Given the description of an element on the screen output the (x, y) to click on. 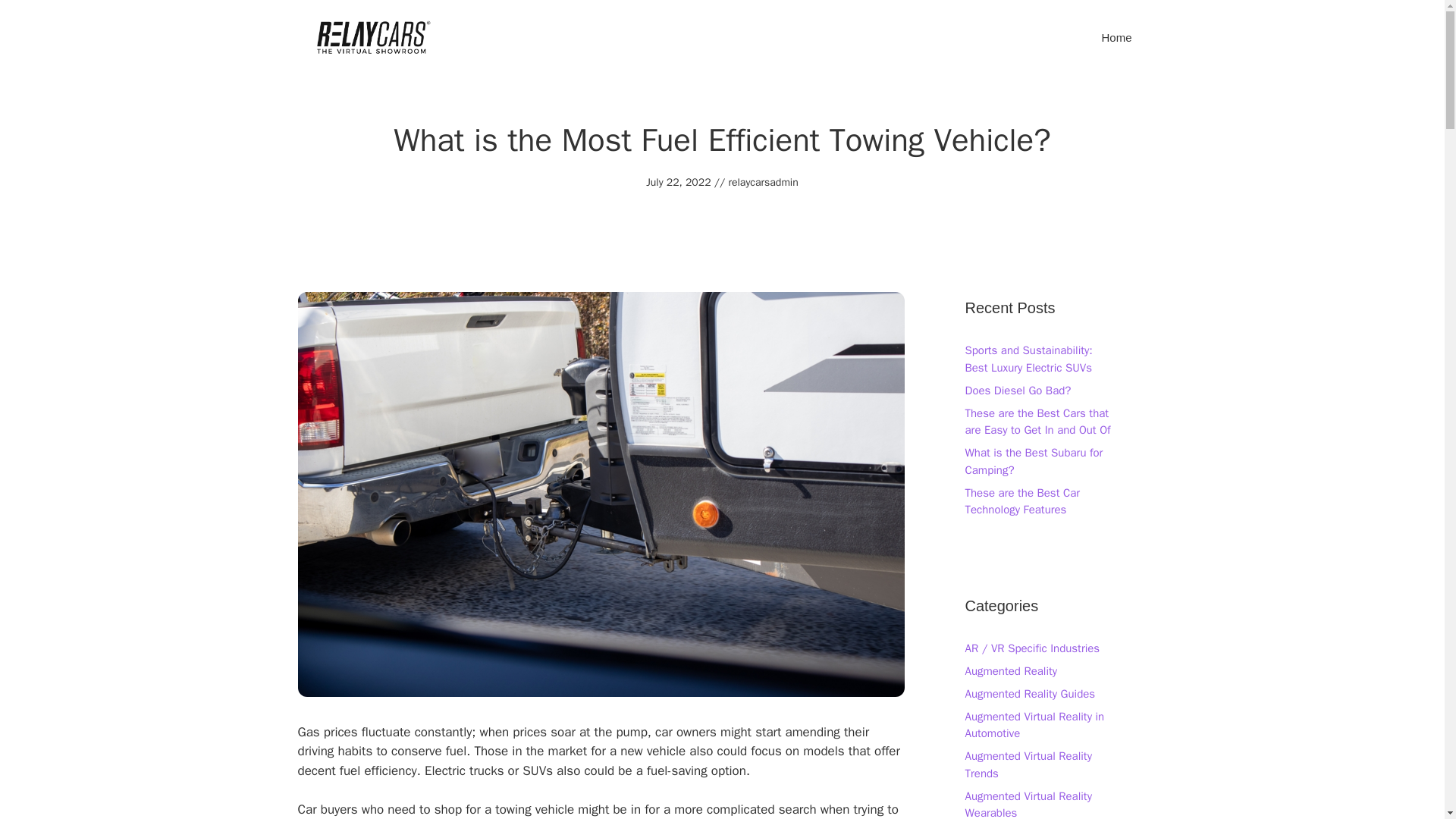
Home (1116, 37)
Sports and Sustainability: Best Luxury Electric SUVs (1027, 358)
View all posts by relaycarsadmin (762, 182)
Augmented Reality (1010, 671)
What is the Best Subaru for Camping? (1032, 460)
These are the Best Car Technology Features (1021, 501)
relaycarsadmin (762, 182)
Electric trucks (464, 770)
Augmented Virtual Reality Trends (1026, 764)
Augmented Reality Guides (1028, 694)
